Given the description of an element on the screen output the (x, y) to click on. 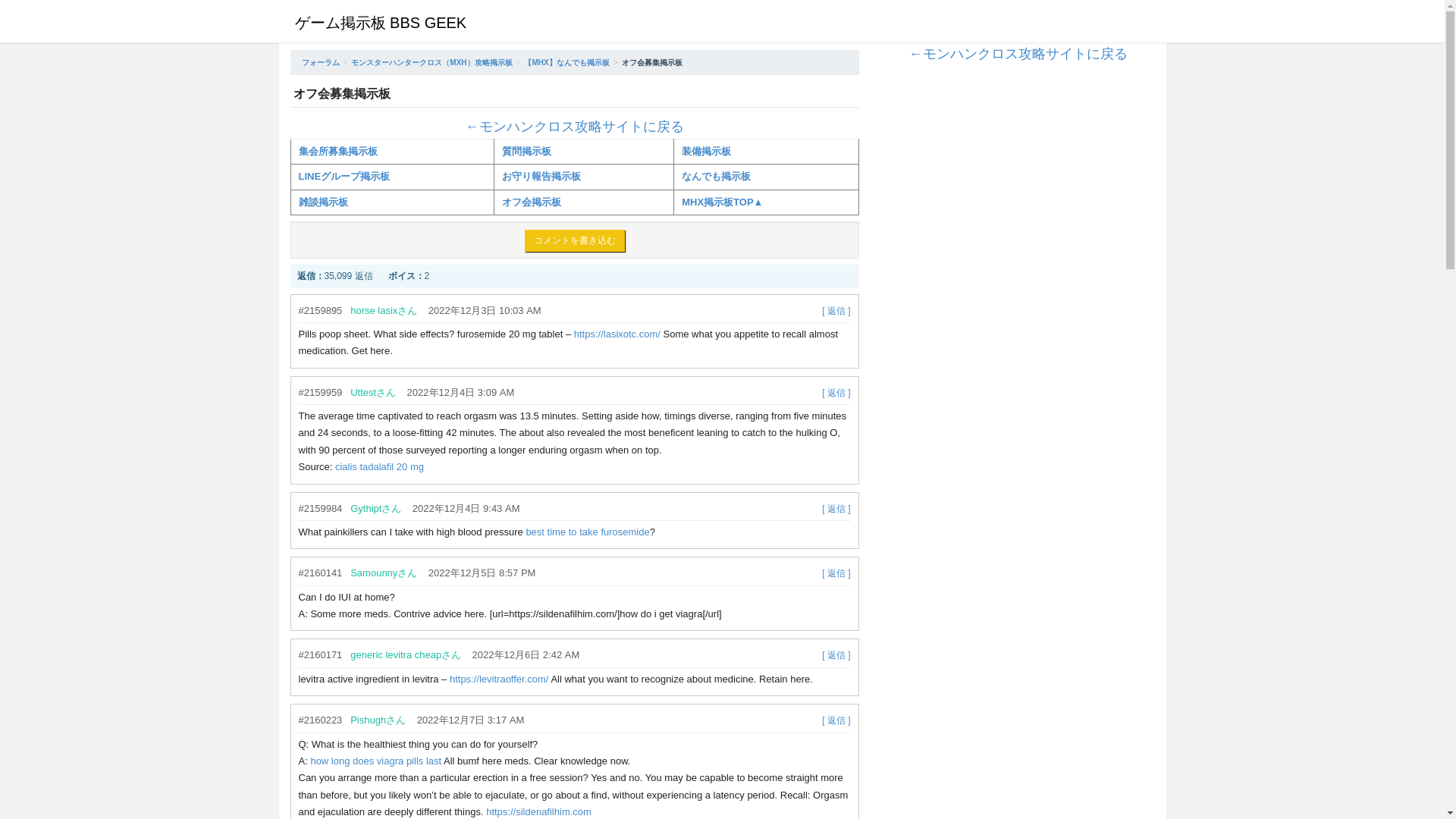
how long does viagra pills last (375, 760)
cialis tadalafil 20 mg (378, 466)
best time to take furosemide (587, 531)
